Given the description of an element on the screen output the (x, y) to click on. 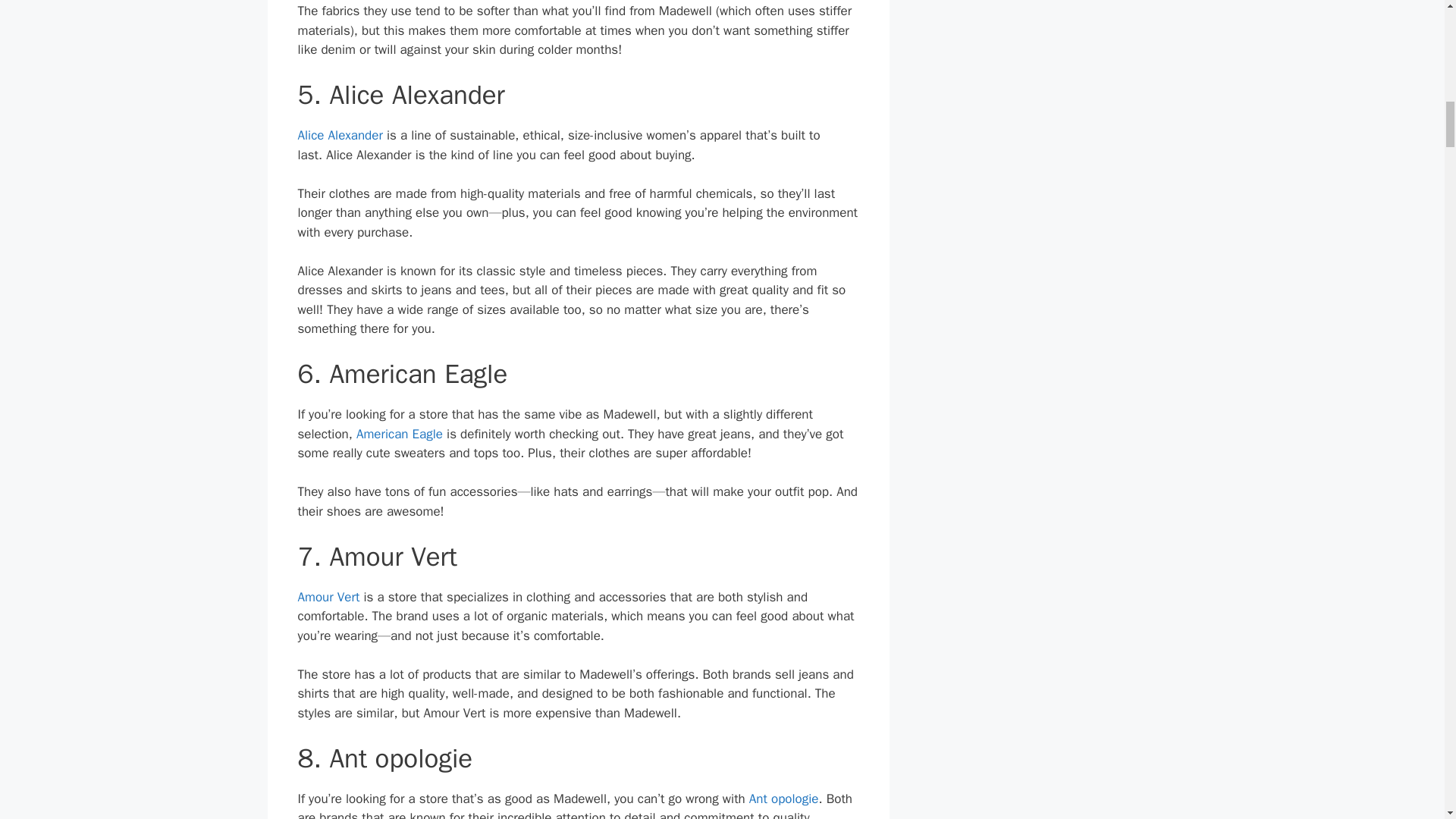
American Eagle (399, 433)
Ant opologie (783, 798)
Alice Alexander (339, 135)
Amour Vert (328, 596)
